Given the description of an element on the screen output the (x, y) to click on. 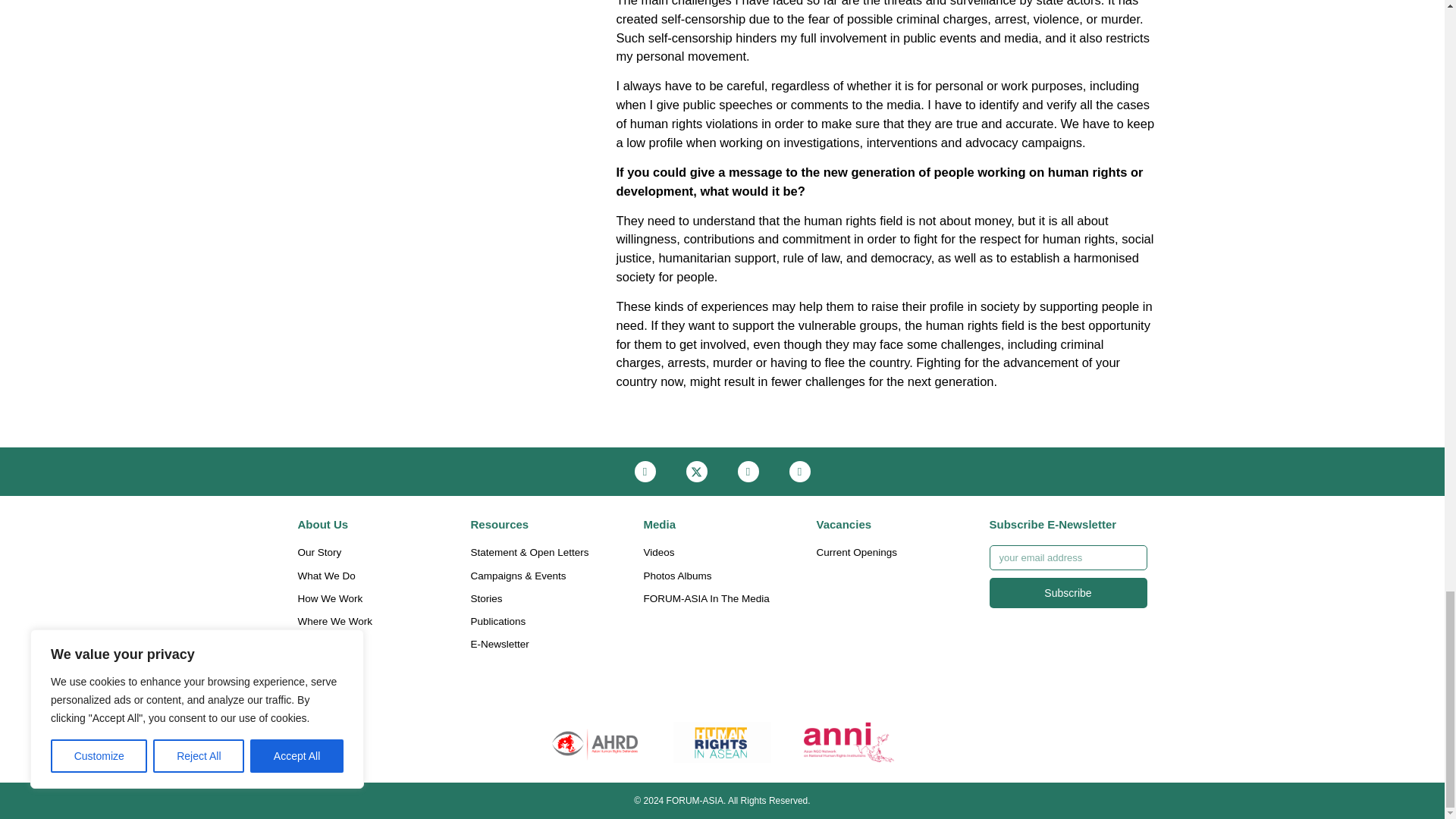
Default Title (722, 741)
Default Title (848, 741)
Default Title (595, 741)
